Given the description of an element on the screen output the (x, y) to click on. 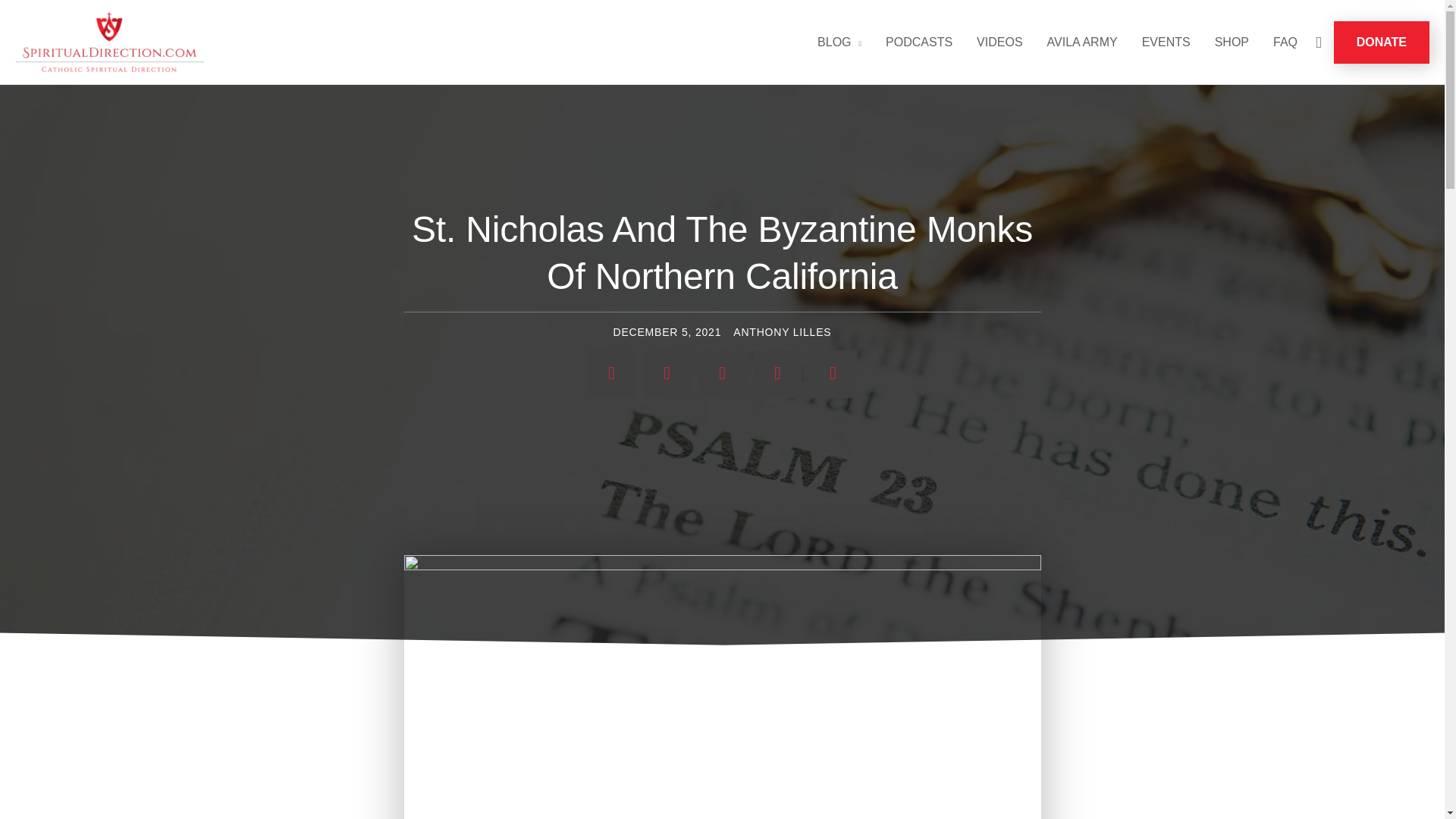
AVILA ARMY (1082, 42)
BLOG (839, 42)
DONATE (1381, 42)
SHOP (1231, 42)
VIDEOS (998, 42)
PODCASTS (918, 42)
EVENTS (1165, 42)
